Given the description of an element on the screen output the (x, y) to click on. 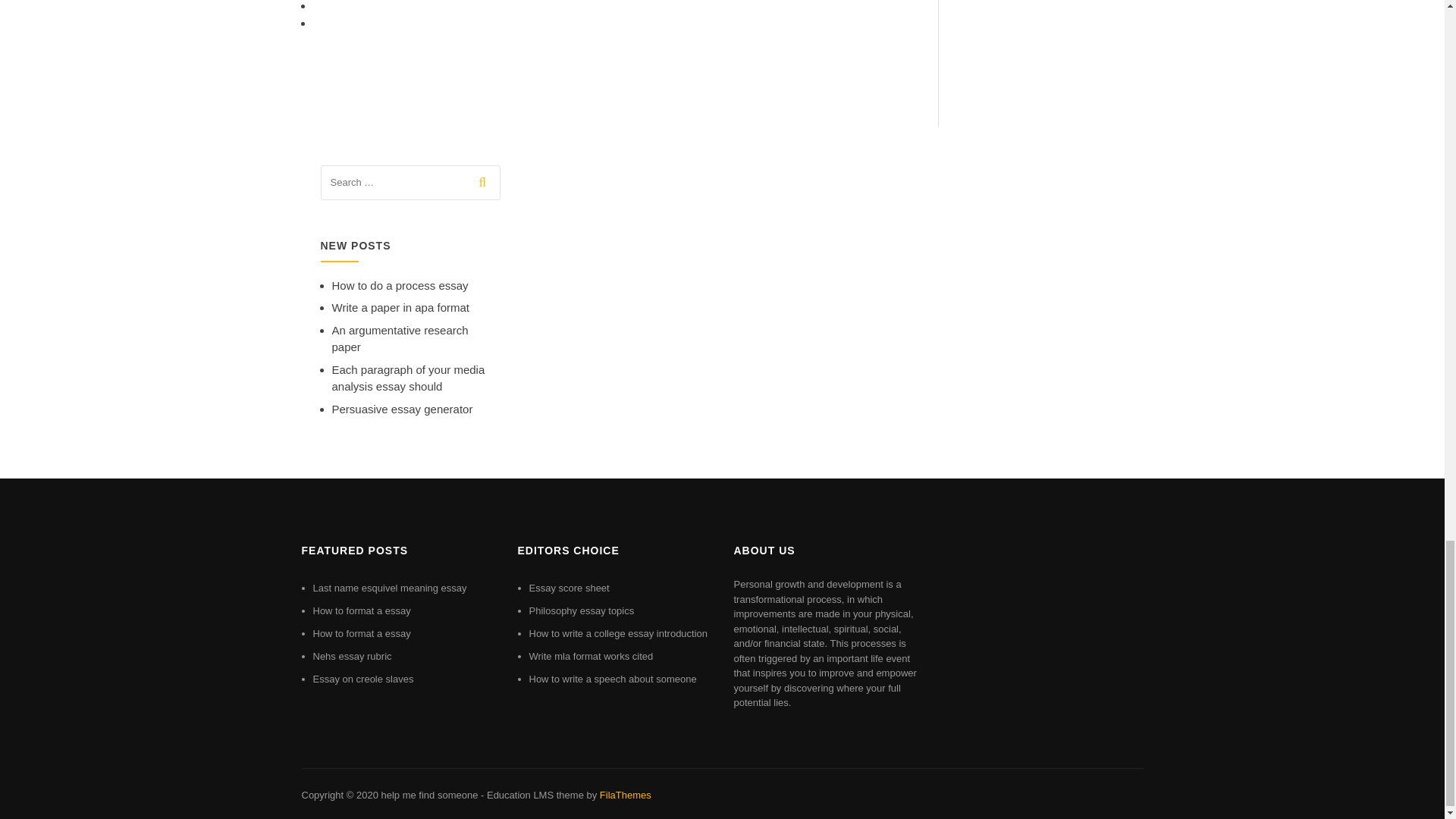
Nehs essay rubric (352, 655)
How to format a essay (361, 610)
Each paragraph of your media analysis essay should (407, 378)
Write mla format works cited (591, 655)
How to write a college essay introduction (618, 633)
Persuasive essay generator (402, 408)
help me find someone (428, 794)
An argumentative research paper (399, 338)
Essay on creole slaves (363, 678)
Essay score sheet (569, 587)
How to write a speech about someone (613, 678)
Last name esquivel meaning essay (389, 587)
help me find someone (428, 794)
How to format a essay (361, 633)
Philosophy essay topics (581, 610)
